Given the description of an element on the screen output the (x, y) to click on. 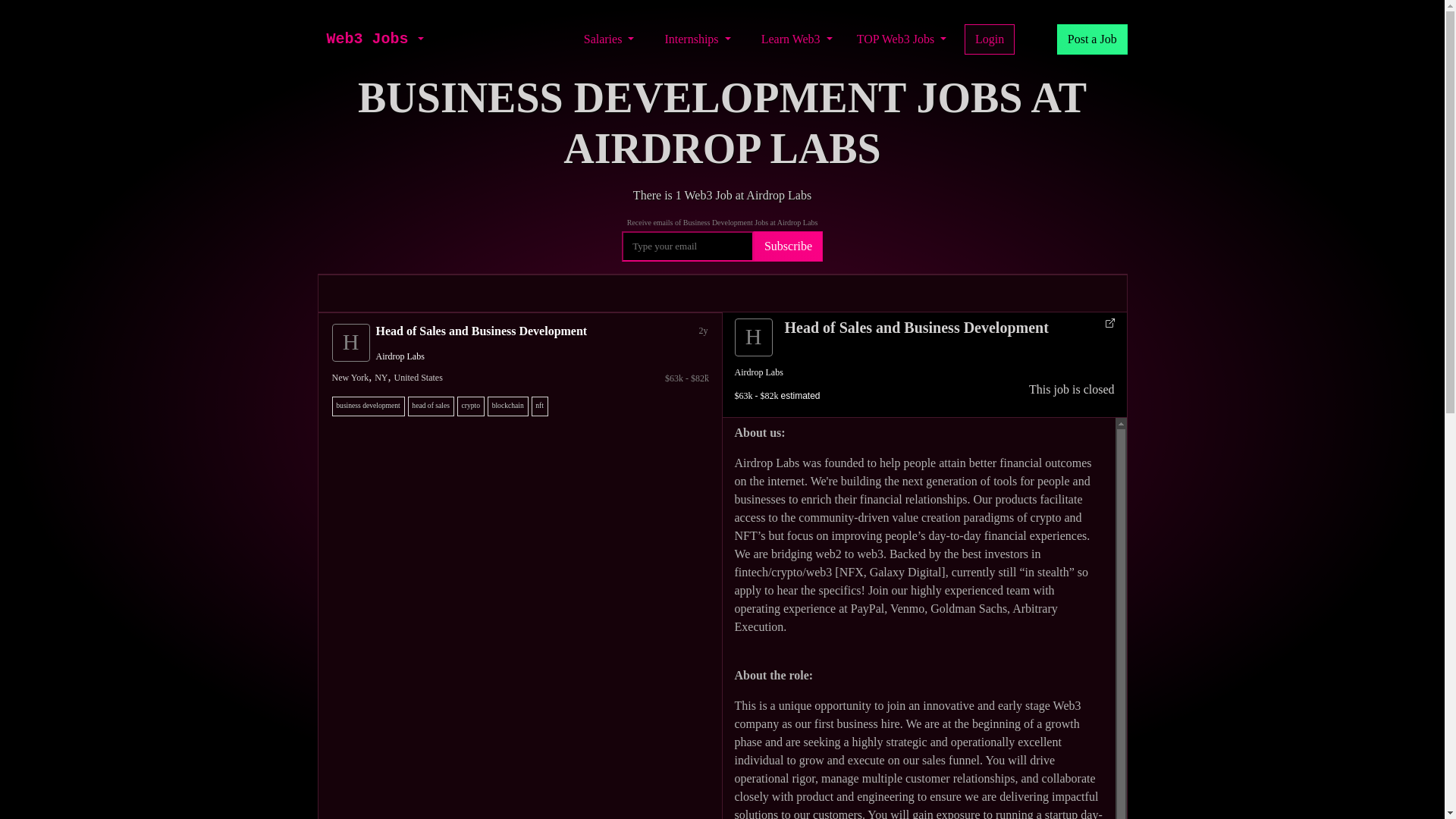
Internships (697, 39)
Web3 Jobs (366, 39)
Salaries (609, 39)
Subscribe (788, 245)
Estimated compensation based on similar jobs (776, 395)
Estimated salary based on similar jobs (522, 377)
Learn Web3 (796, 39)
